Given the description of an element on the screen output the (x, y) to click on. 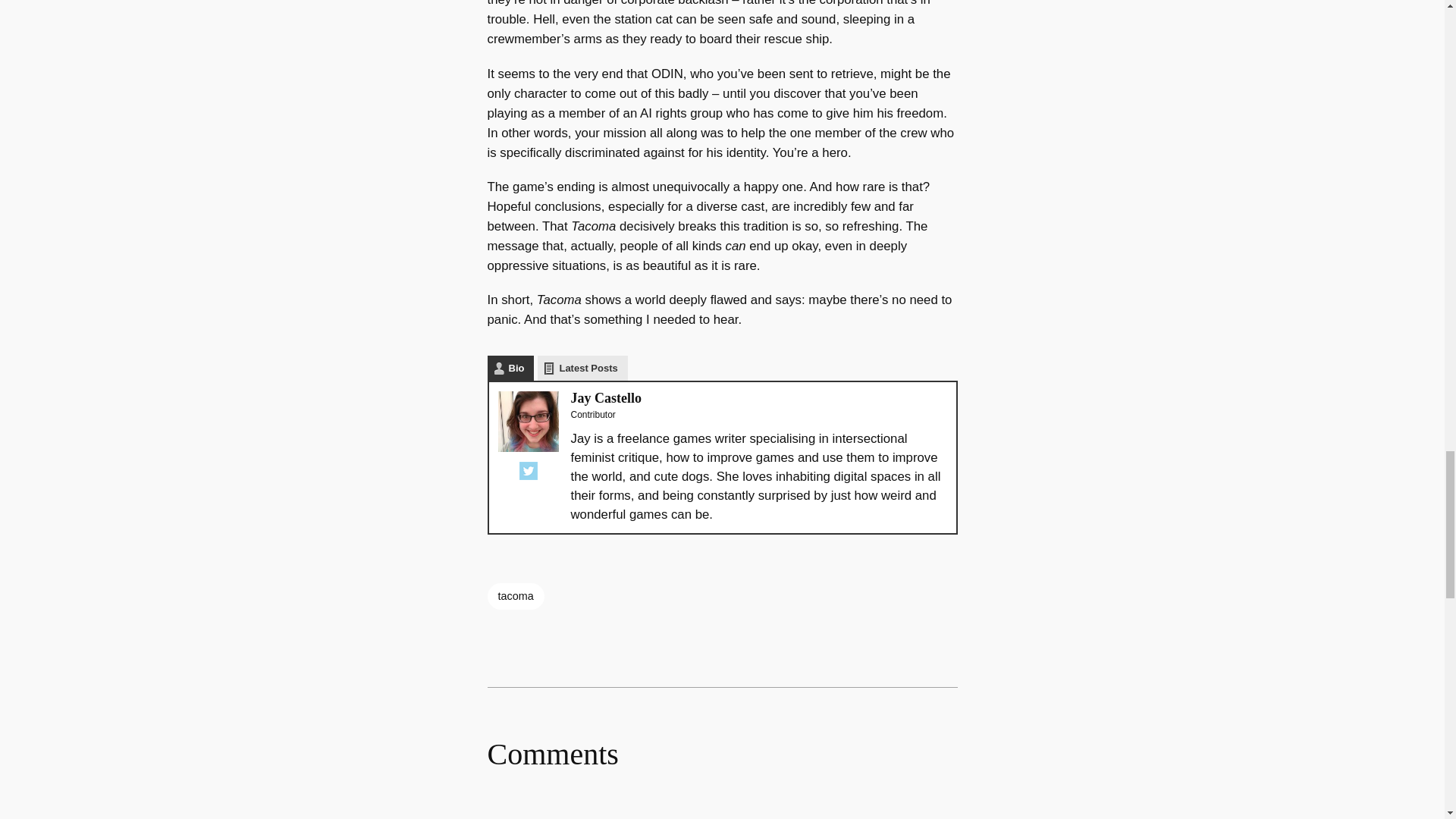
tacoma (514, 596)
Bio (510, 367)
Latest Posts (582, 367)
